Given the description of an element on the screen output the (x, y) to click on. 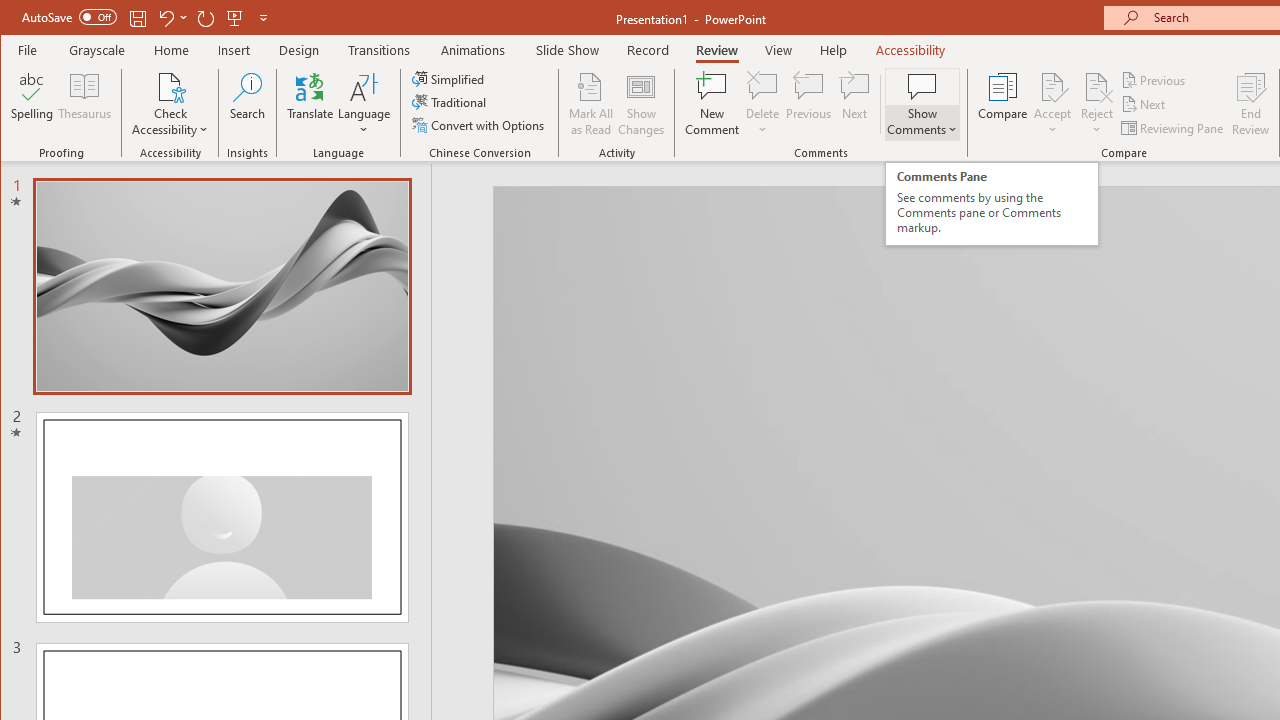
Show Changes (640, 104)
Traditional (450, 101)
Show Comments (922, 86)
Reject (1096, 104)
Accept Change (1052, 86)
